Given the description of an element on the screen output the (x, y) to click on. 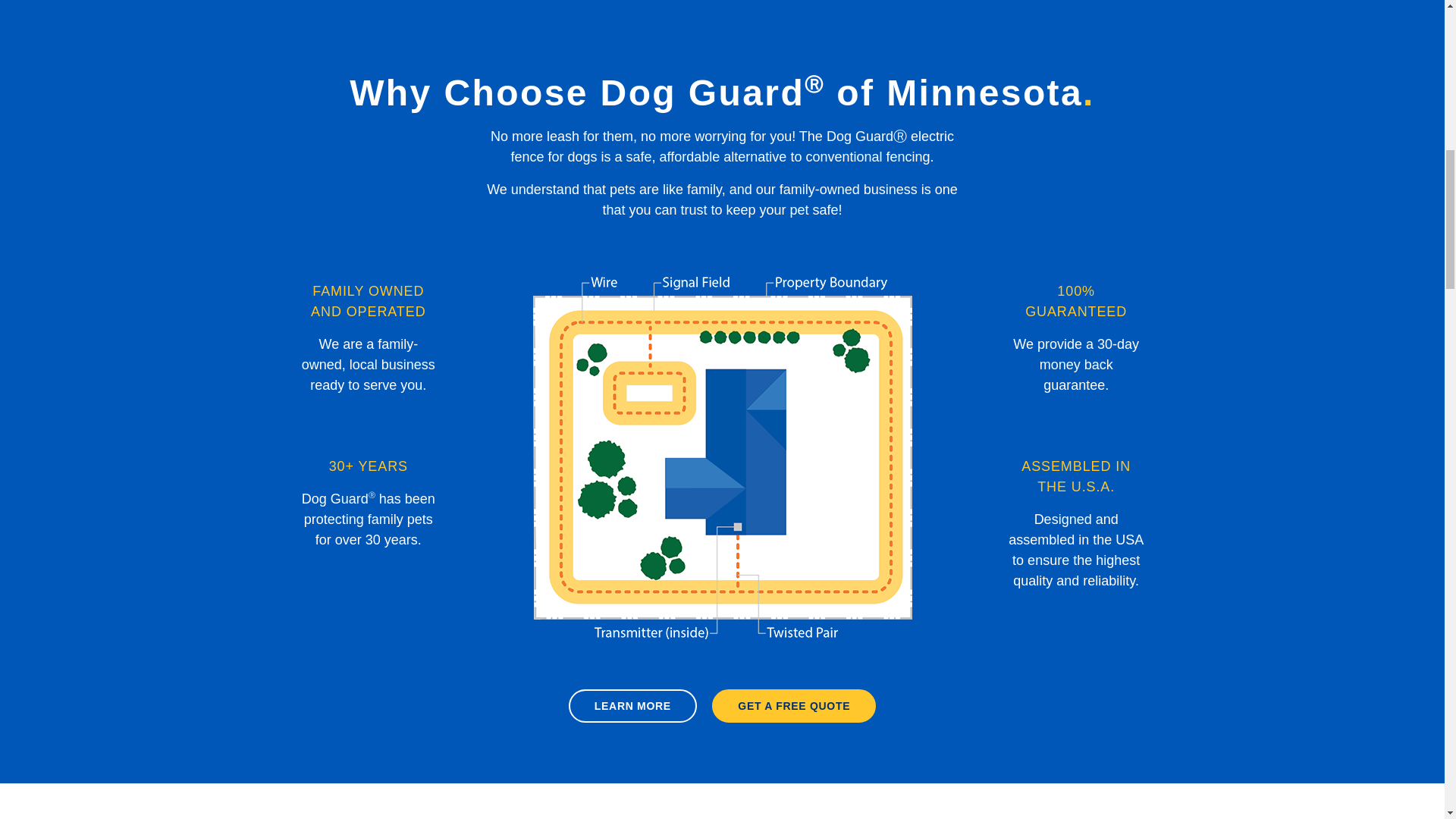
LEARN MORE (633, 704)
GET A FREE QUOTE (793, 704)
